Given the description of an element on the screen output the (x, y) to click on. 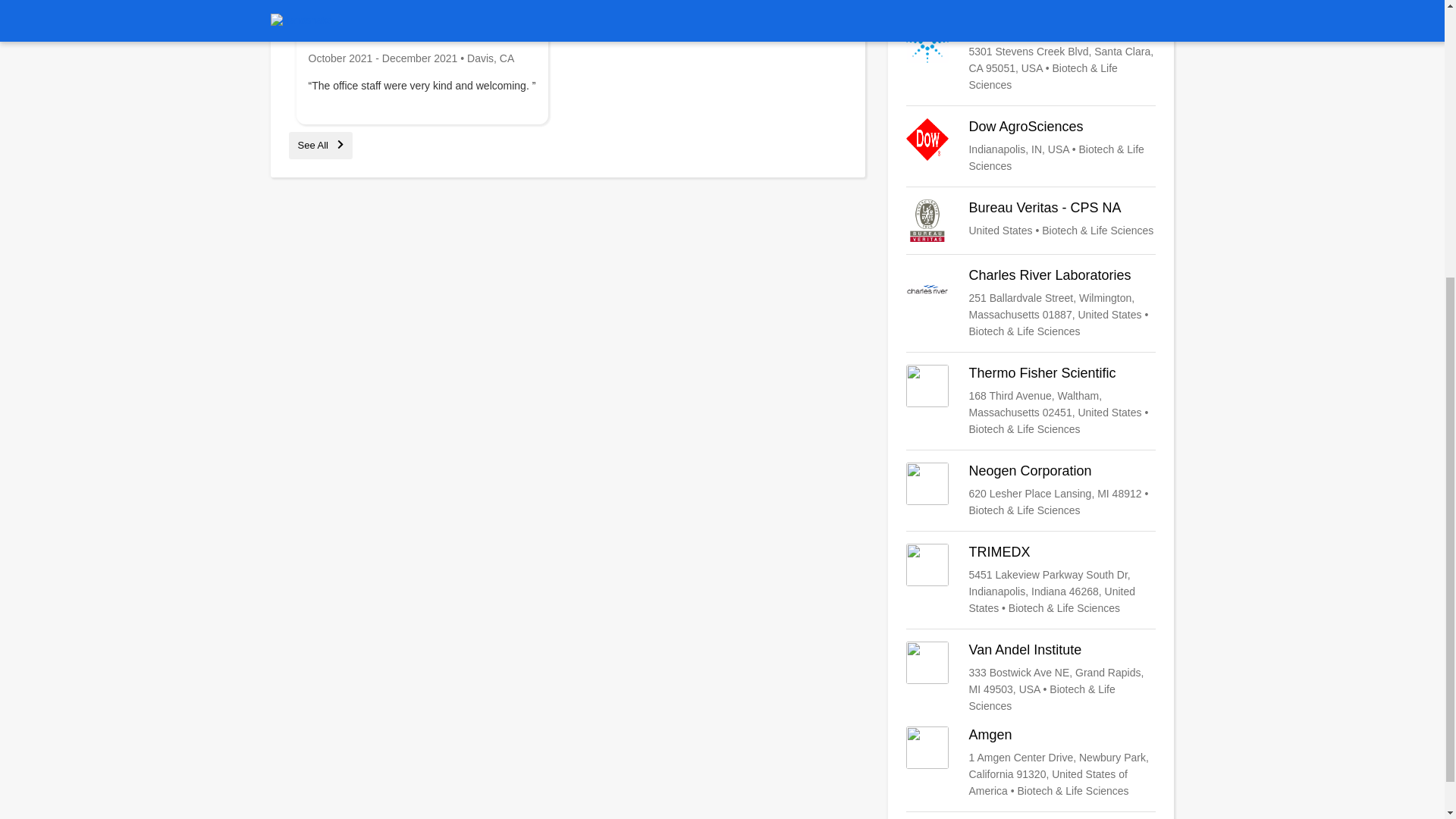
Thermo Fisher Scientific (1030, 400)
Dow AgroSciences (1030, 145)
See All (320, 144)
Agilent Technologies (1030, 56)
Charles River Laboratories (1030, 302)
Neogen Corporation (1030, 490)
Amgen (1030, 762)
Van Andel Institute (1030, 677)
TRIMEDX (1030, 579)
Bureau Veritas - CPS NA (1030, 220)
